Given the description of an element on the screen output the (x, y) to click on. 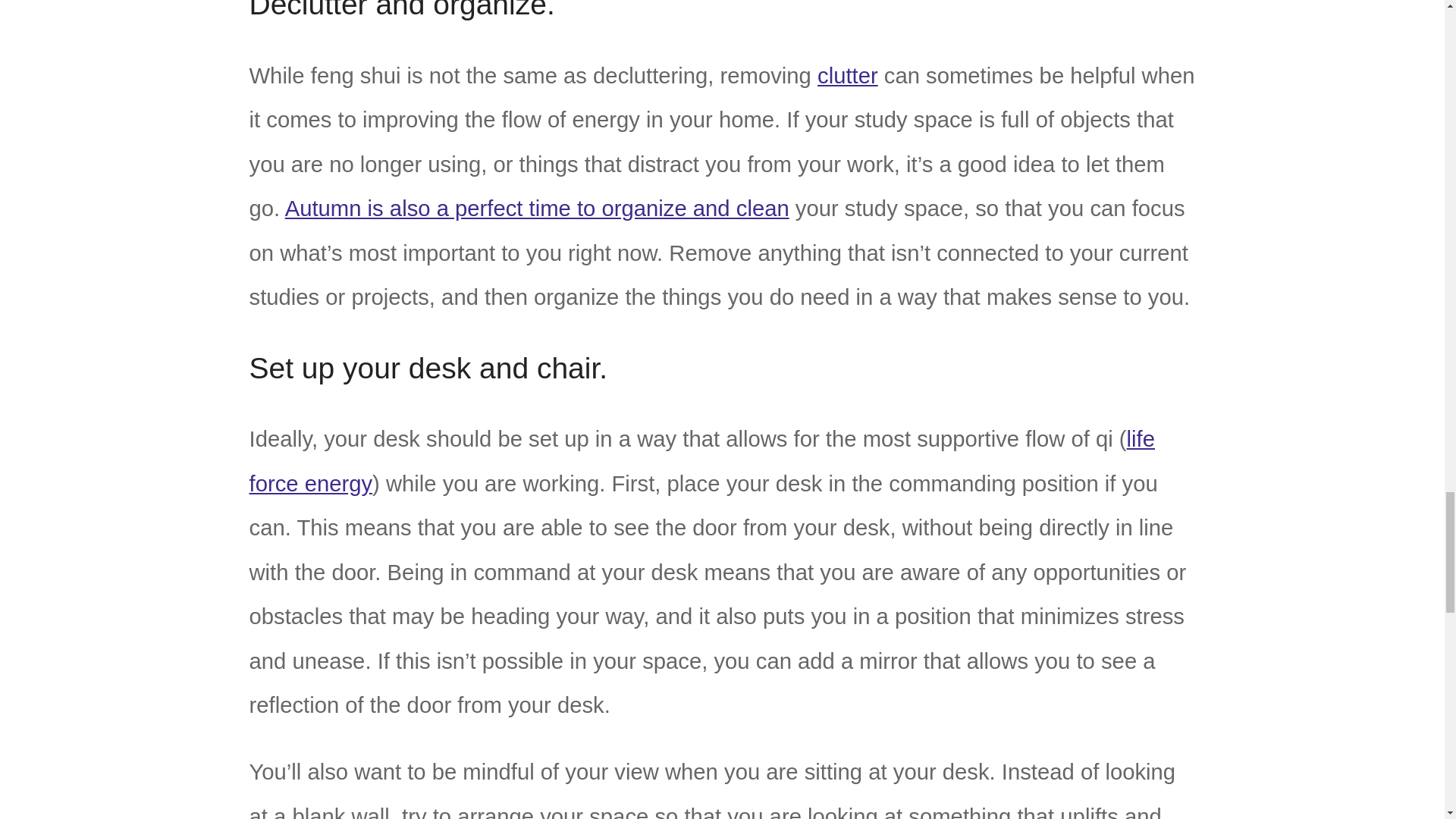
Autumn is also a perfect time to organize and clean (537, 208)
life force energy (701, 461)
clutter (846, 75)
